Given the description of an element on the screen output the (x, y) to click on. 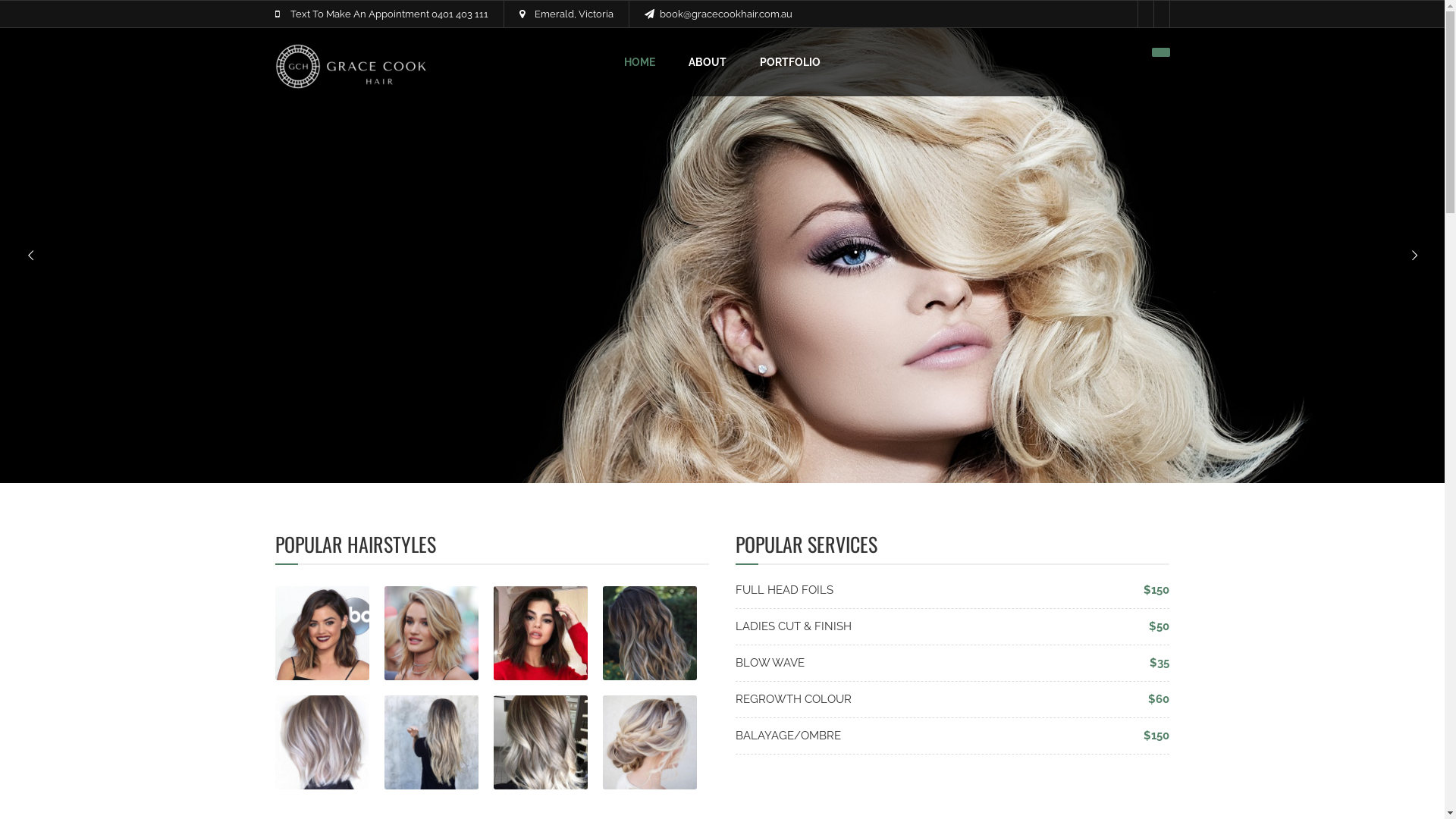
PORTFOLIO Element type: text (789, 62)
book@gracecookhair.com.au Element type: text (725, 13)
ABOUT Element type: text (707, 62)
HOME Element type: text (639, 62)
